Given the description of an element on the screen output the (x, y) to click on. 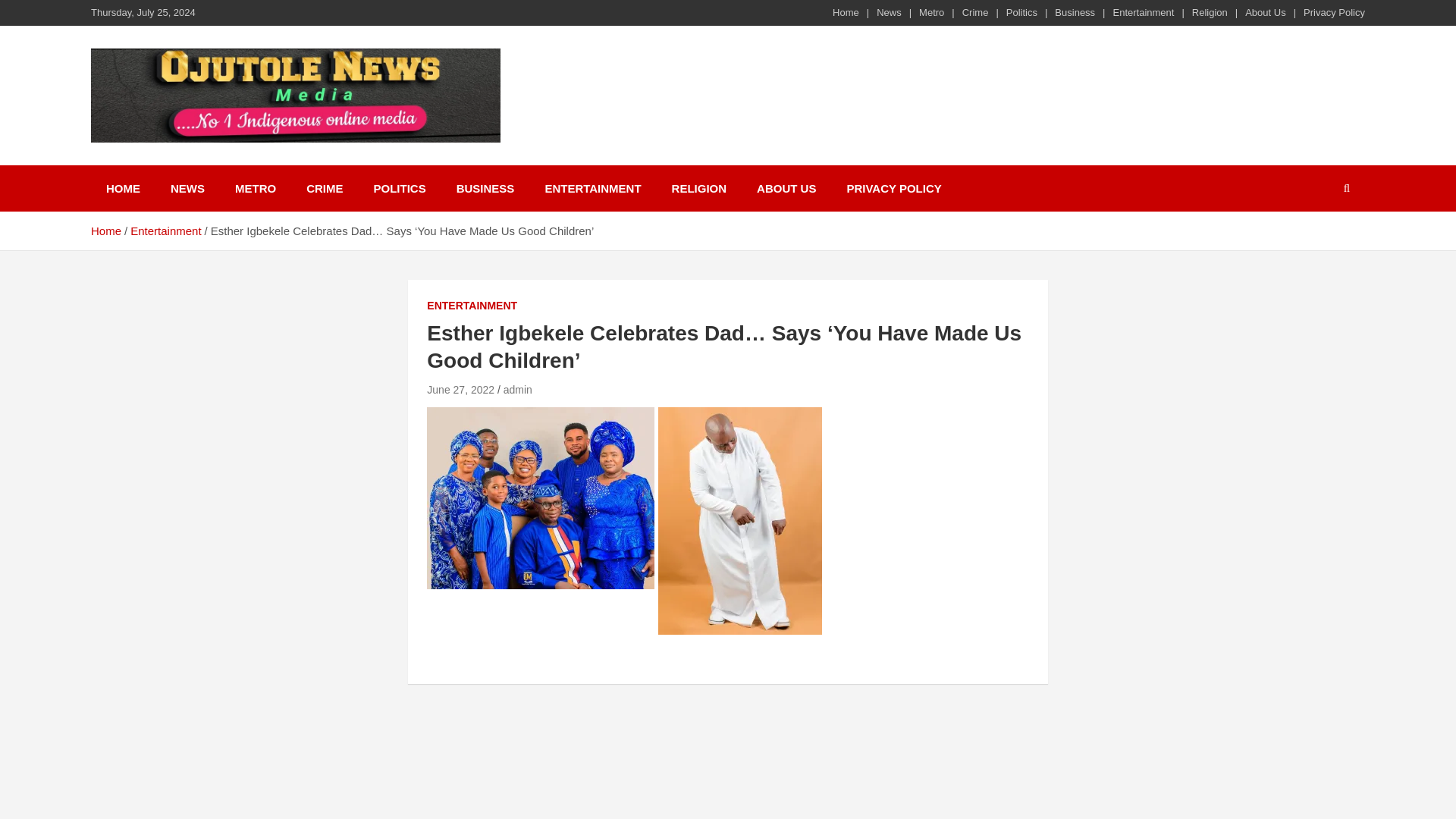
Entertainment (165, 230)
POLITICS (399, 188)
Business (1074, 12)
CRIME (324, 188)
News (888, 12)
HOME (122, 188)
Privacy Policy (1334, 12)
Religion (1209, 12)
Politics (1021, 12)
RELIGION (699, 188)
admin (517, 389)
ABOUT US (786, 188)
Entertainment (1143, 12)
Metro (930, 12)
ENTERTAINMENT (471, 305)
